Given the description of an element on the screen output the (x, y) to click on. 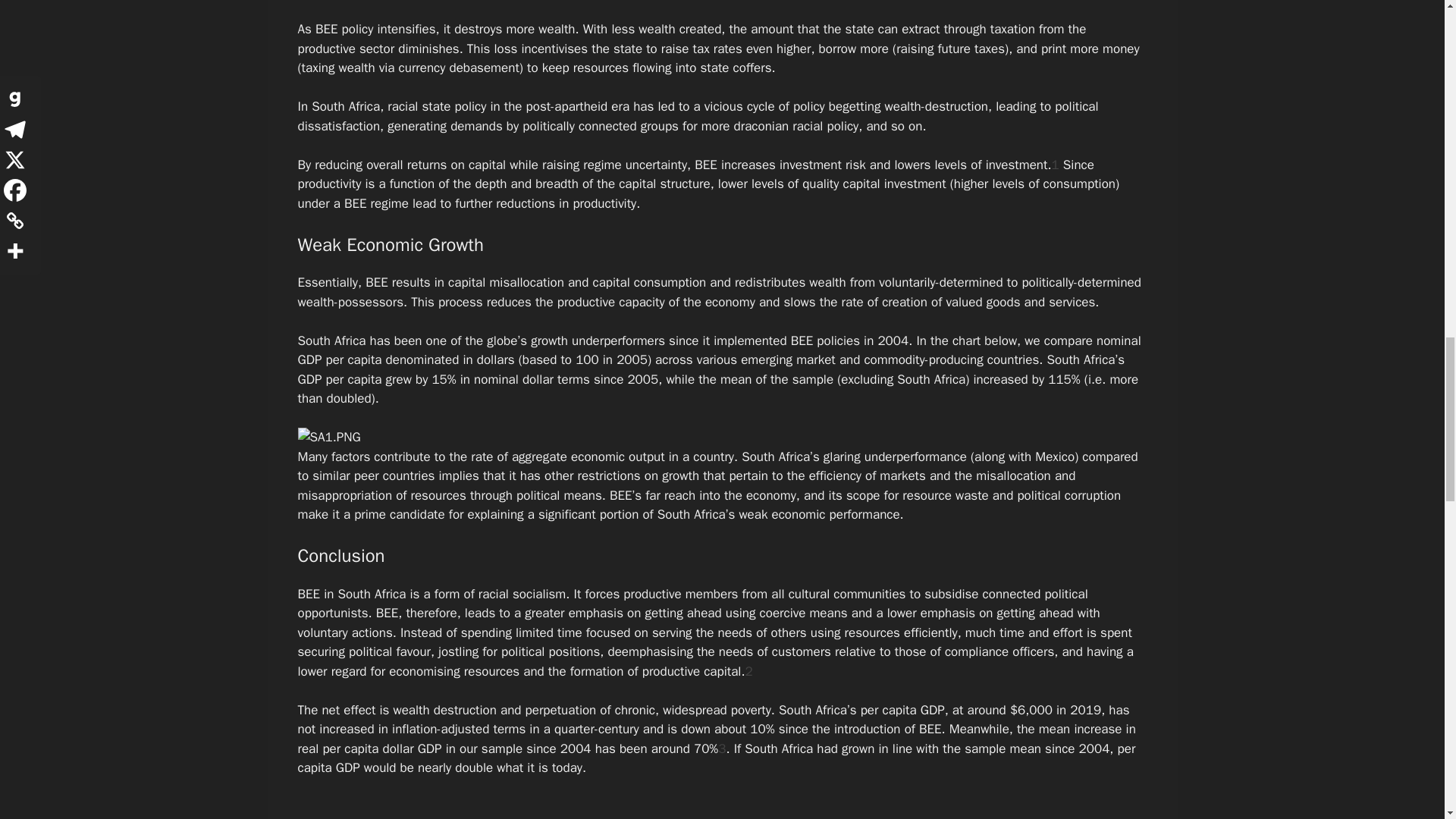
SA1.PNG (328, 437)
